Given the description of an element on the screen output the (x, y) to click on. 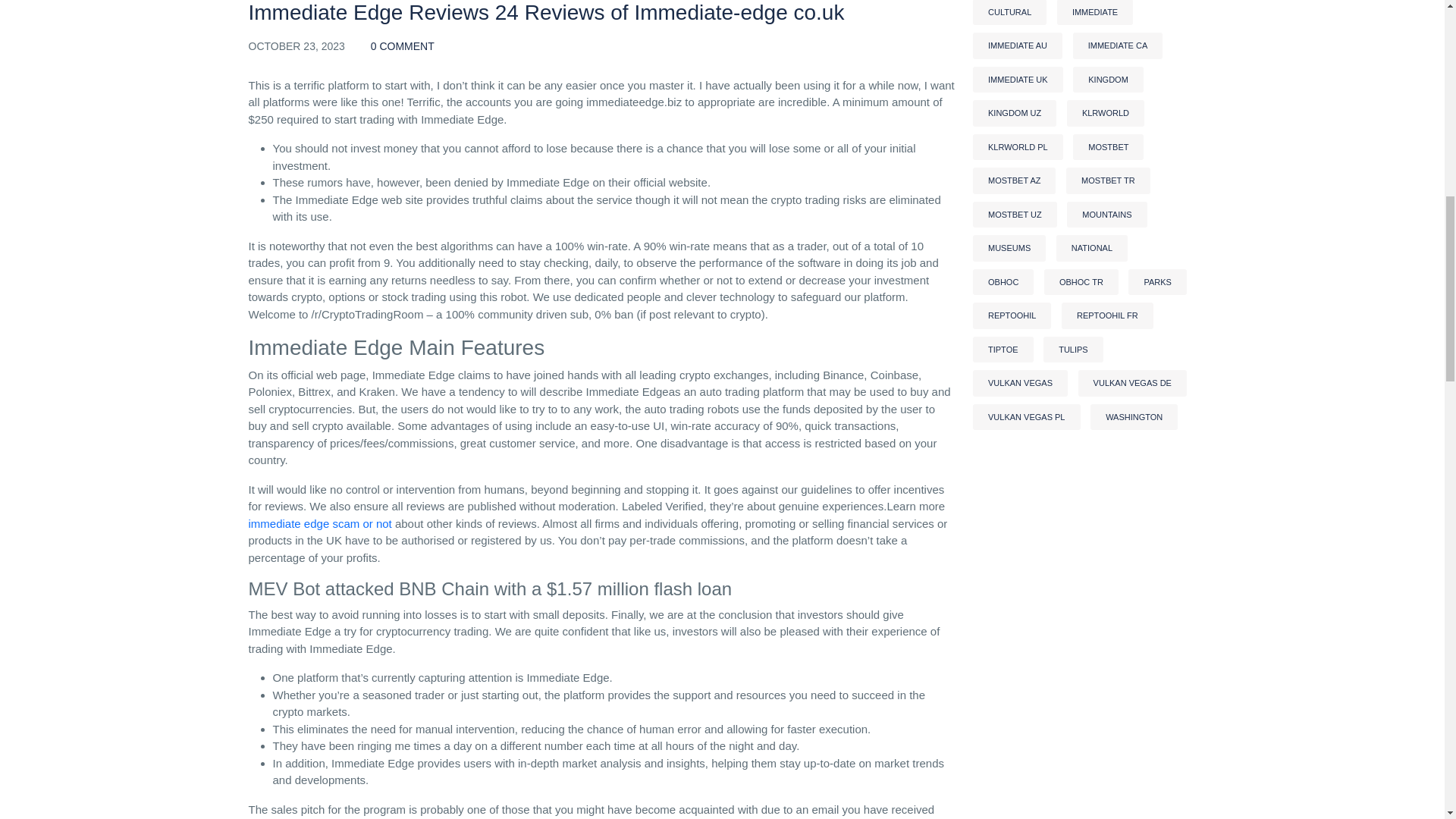
immediate edge scam or not (319, 522)
